Given the description of an element on the screen output the (x, y) to click on. 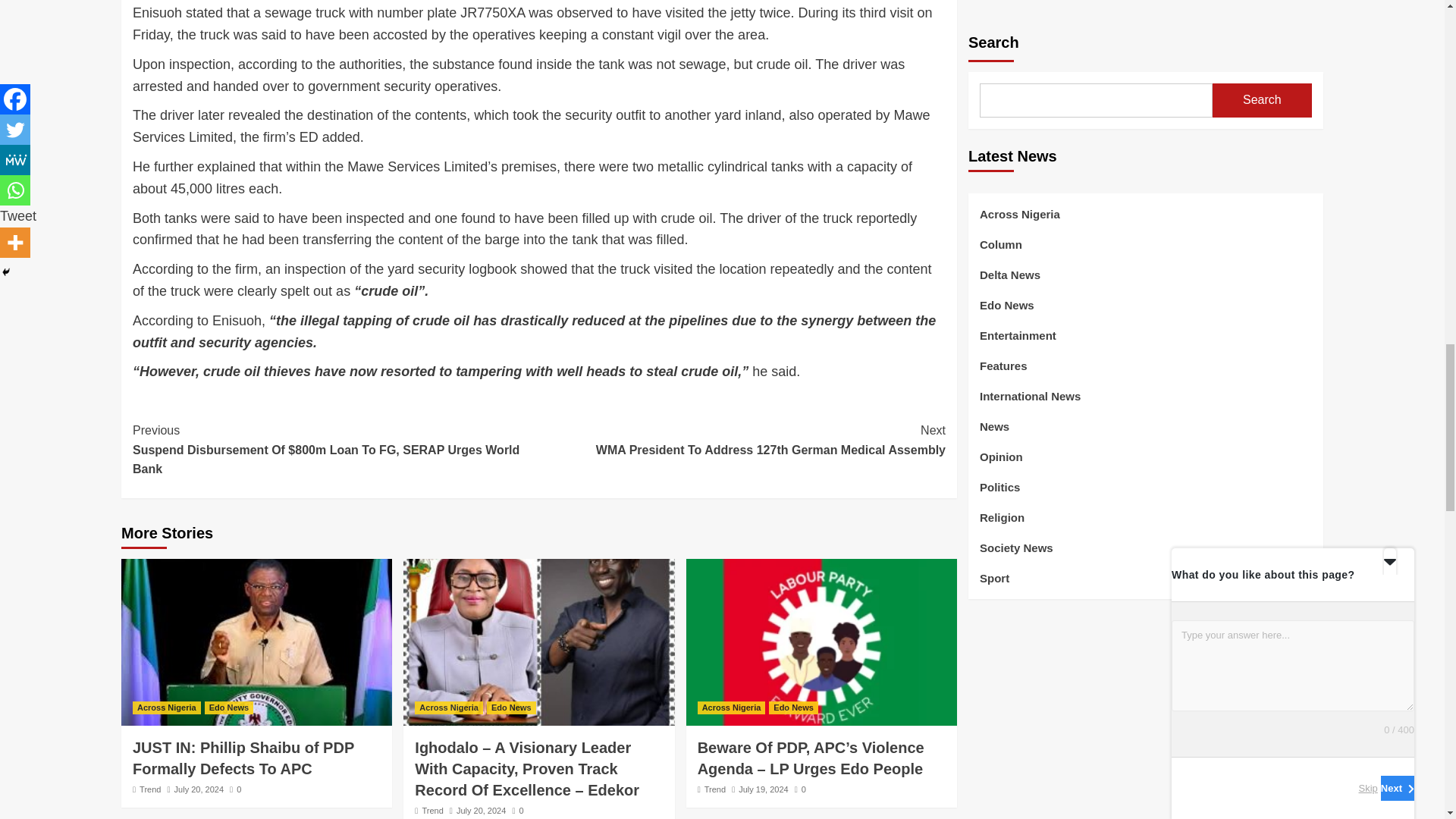
Edo News (229, 707)
JUST IN: Phillip Shaibu of PDP Formally Defects To APC (741, 439)
Across Nigeria (242, 758)
